Given the description of an element on the screen output the (x, y) to click on. 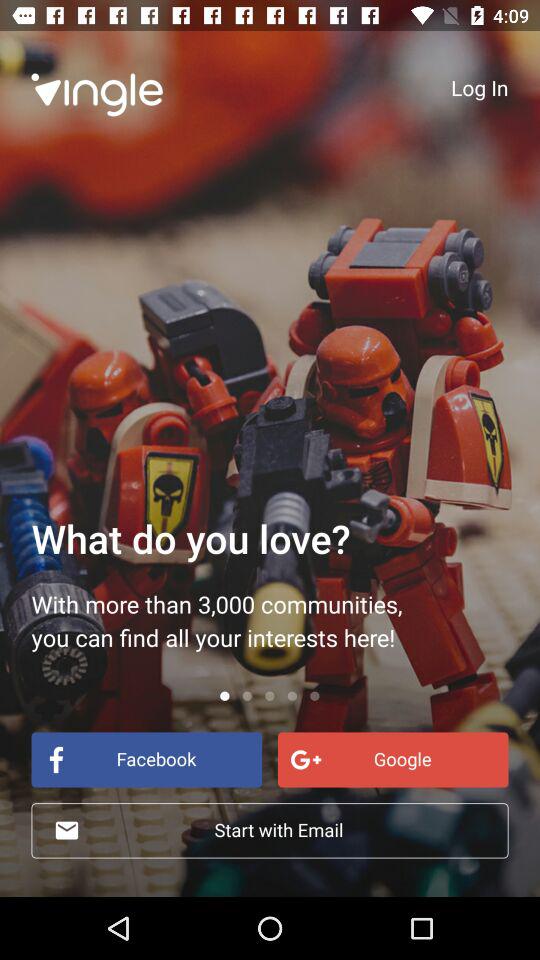
jump until the log in (479, 87)
